Given the description of an element on the screen output the (x, y) to click on. 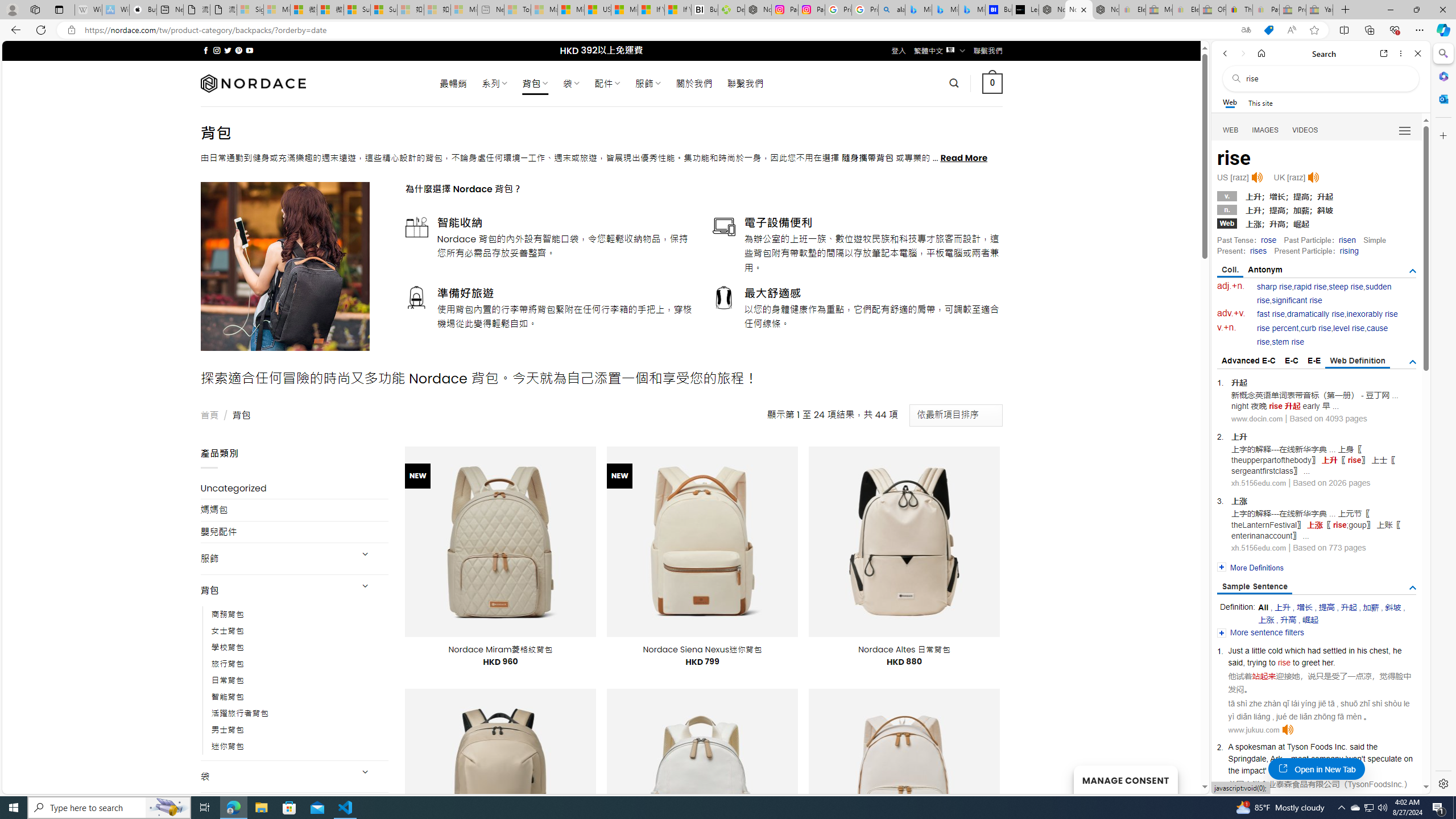
rise percent (1277, 328)
TysonFoodsInc (1374, 783)
Based on 4093 pages (1328, 418)
Foods (1321, 746)
Web Definition (1357, 361)
Microsoft Services Agreement - Sleeping (277, 9)
